Given the description of an element on the screen output the (x, y) to click on. 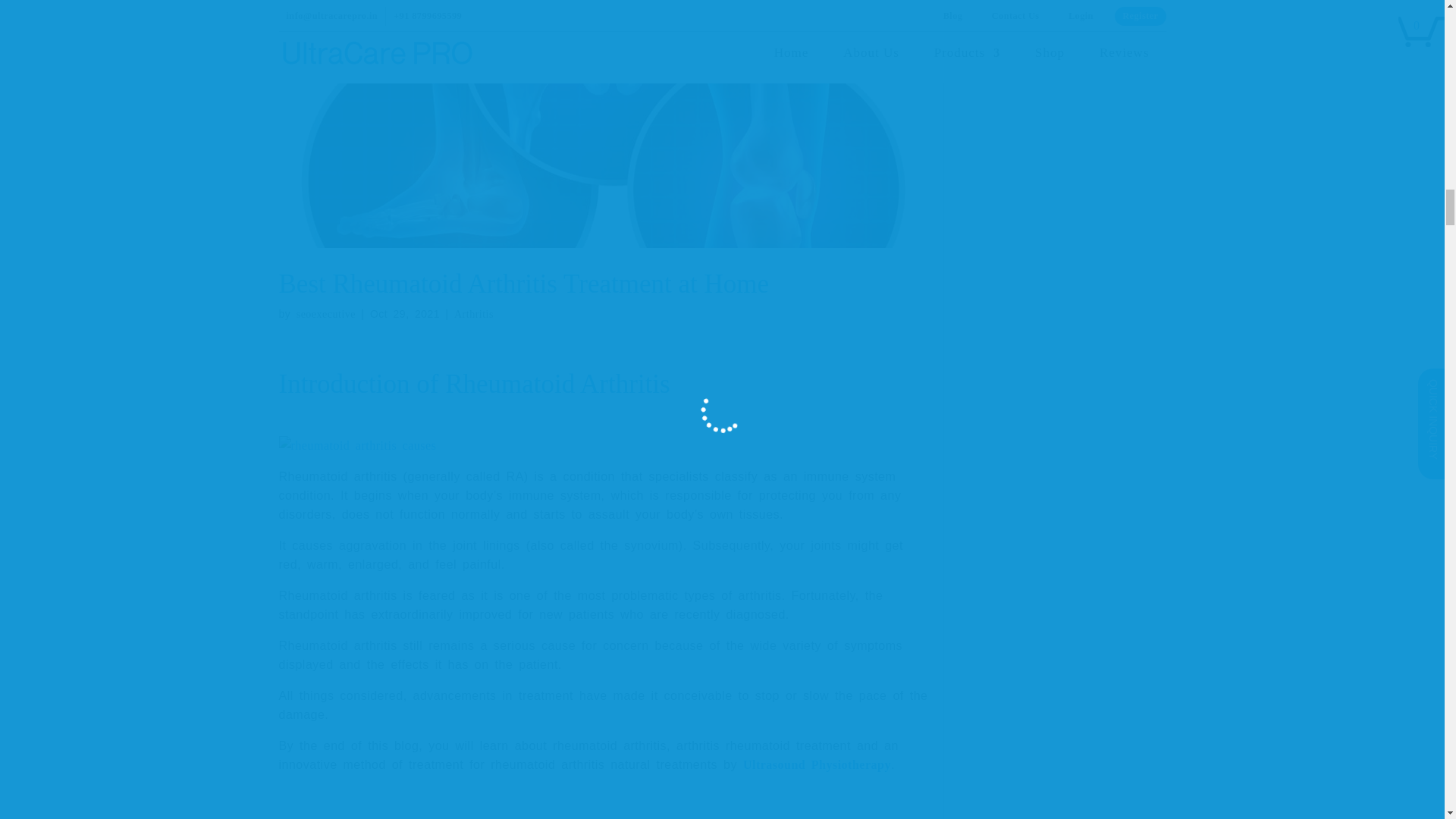
Posts by seoexecutive (326, 314)
Click here (357, 445)
